Given the description of an element on the screen output the (x, y) to click on. 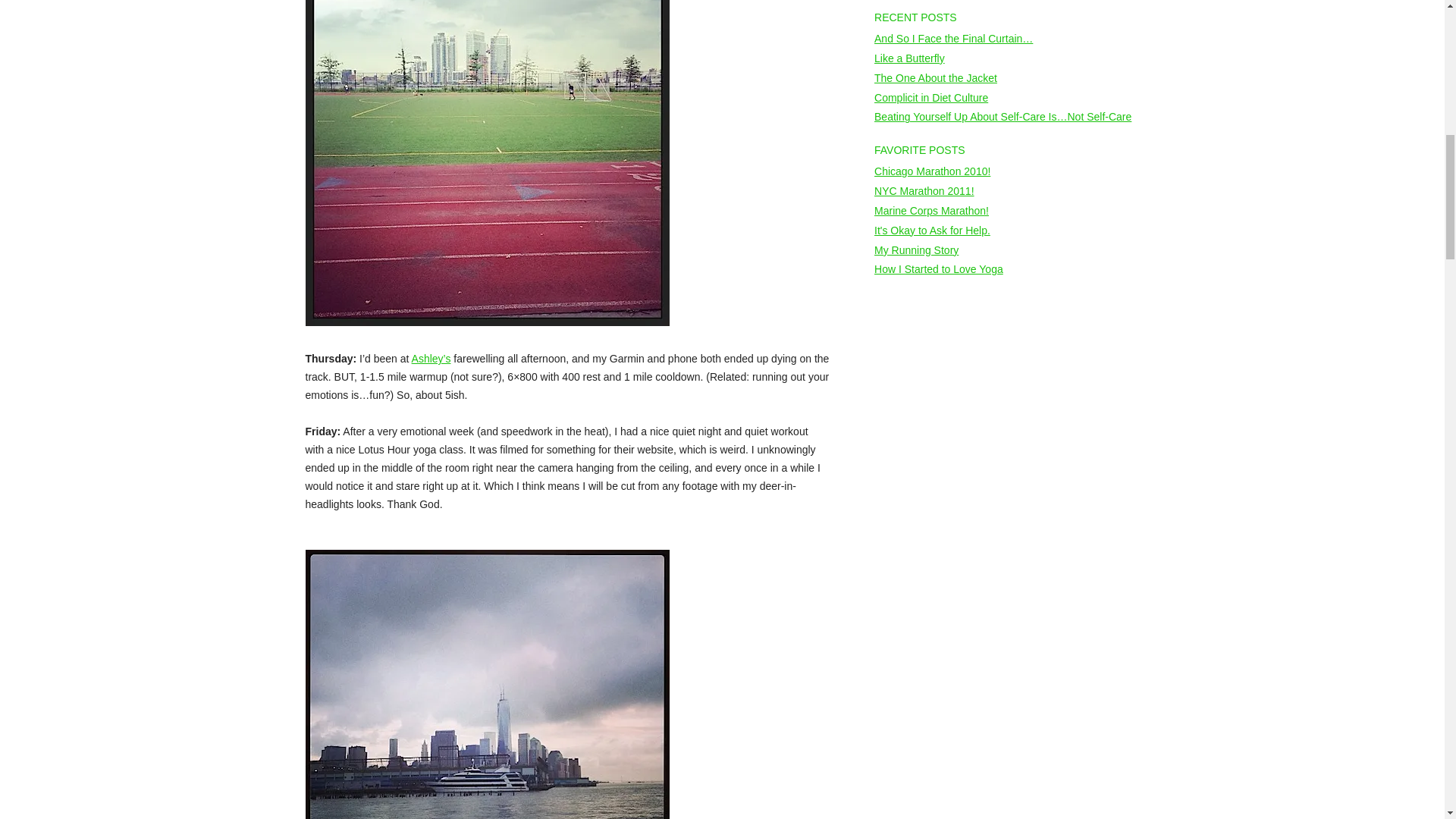
Ashley (431, 358)
